Given the description of an element on the screen output the (x, y) to click on. 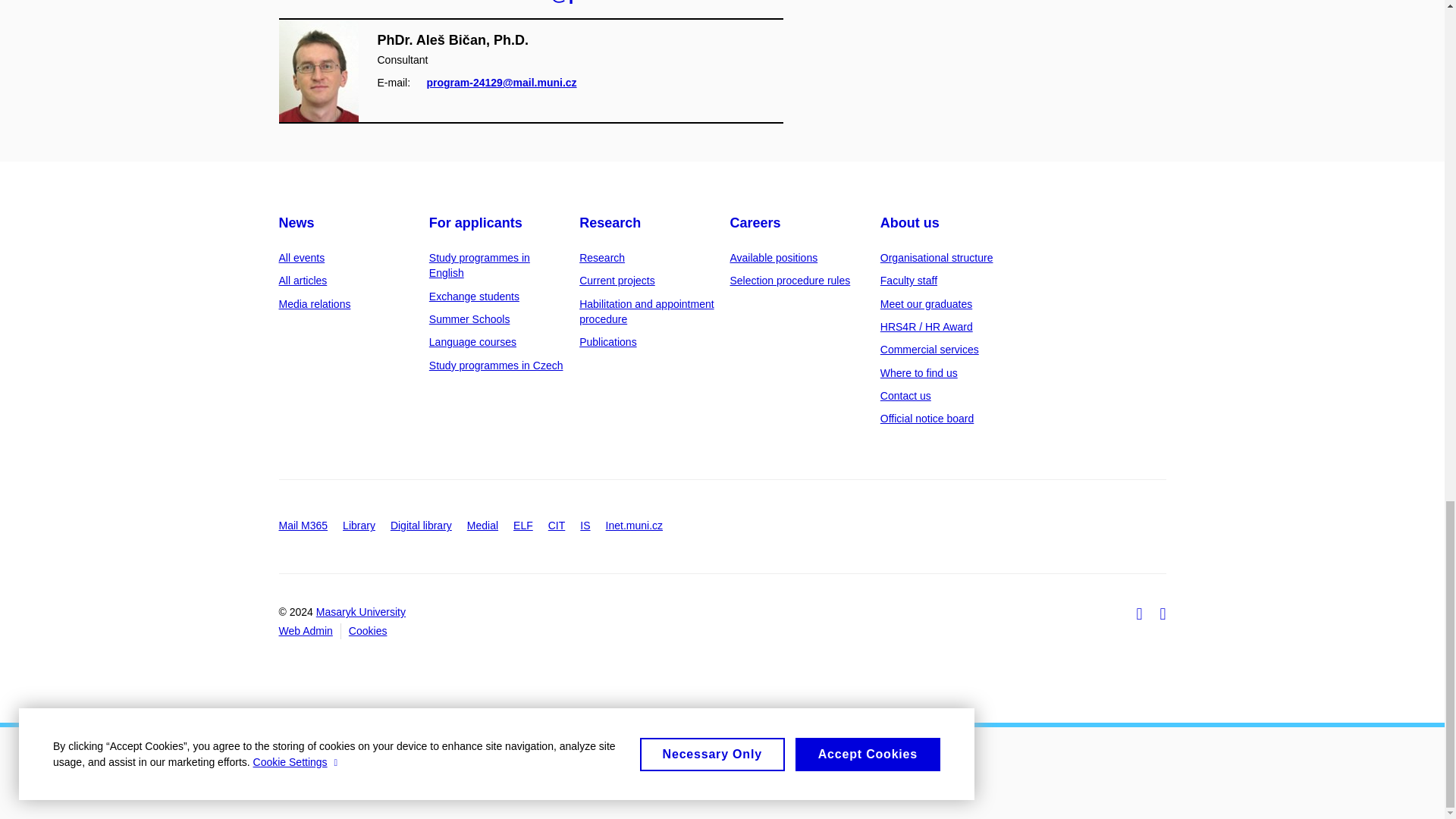
Exchange students (474, 296)
Summer Schools (470, 318)
News (296, 222)
Habilitation and appointment procedure (646, 311)
Research (609, 222)
All articles (303, 280)
Current projects (617, 280)
Language courses (472, 341)
For applicants (475, 222)
Research (601, 257)
Study programmes in Czech (496, 365)
Media relations (314, 304)
Study programmes in English (479, 265)
Publications (608, 341)
All events (301, 257)
